Given the description of an element on the screen output the (x, y) to click on. 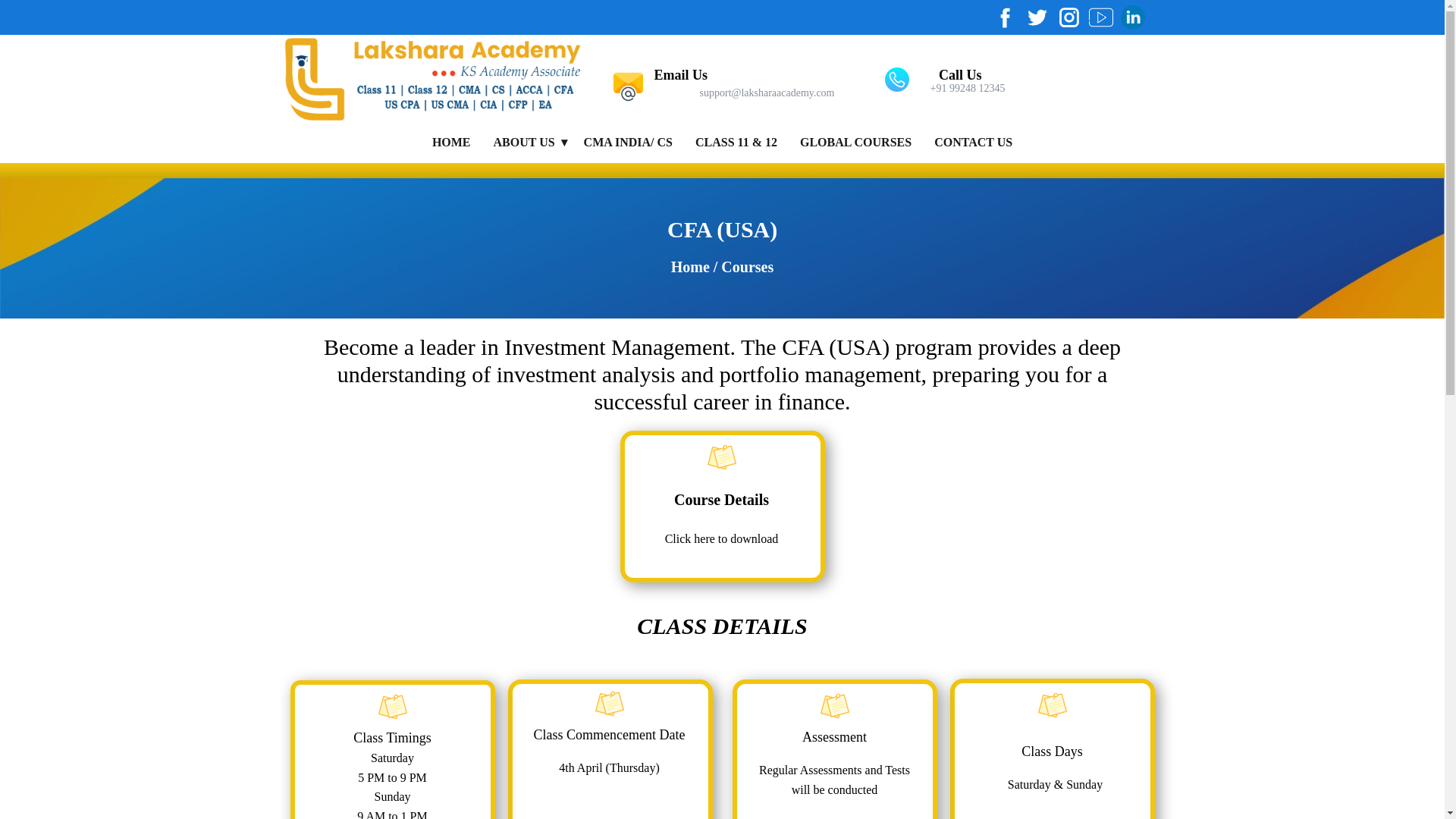
YouTube (1101, 16)
LinkedIn (1132, 16)
HOME (451, 143)
Home (432, 79)
instagram (1069, 16)
twitter (1037, 16)
Lakshara Faculty Team (627, 143)
CONTACT US (972, 143)
GLOBAL COURSES (855, 143)
ABOUT US (526, 143)
facebook (1004, 16)
